Given the description of an element on the screen output the (x, y) to click on. 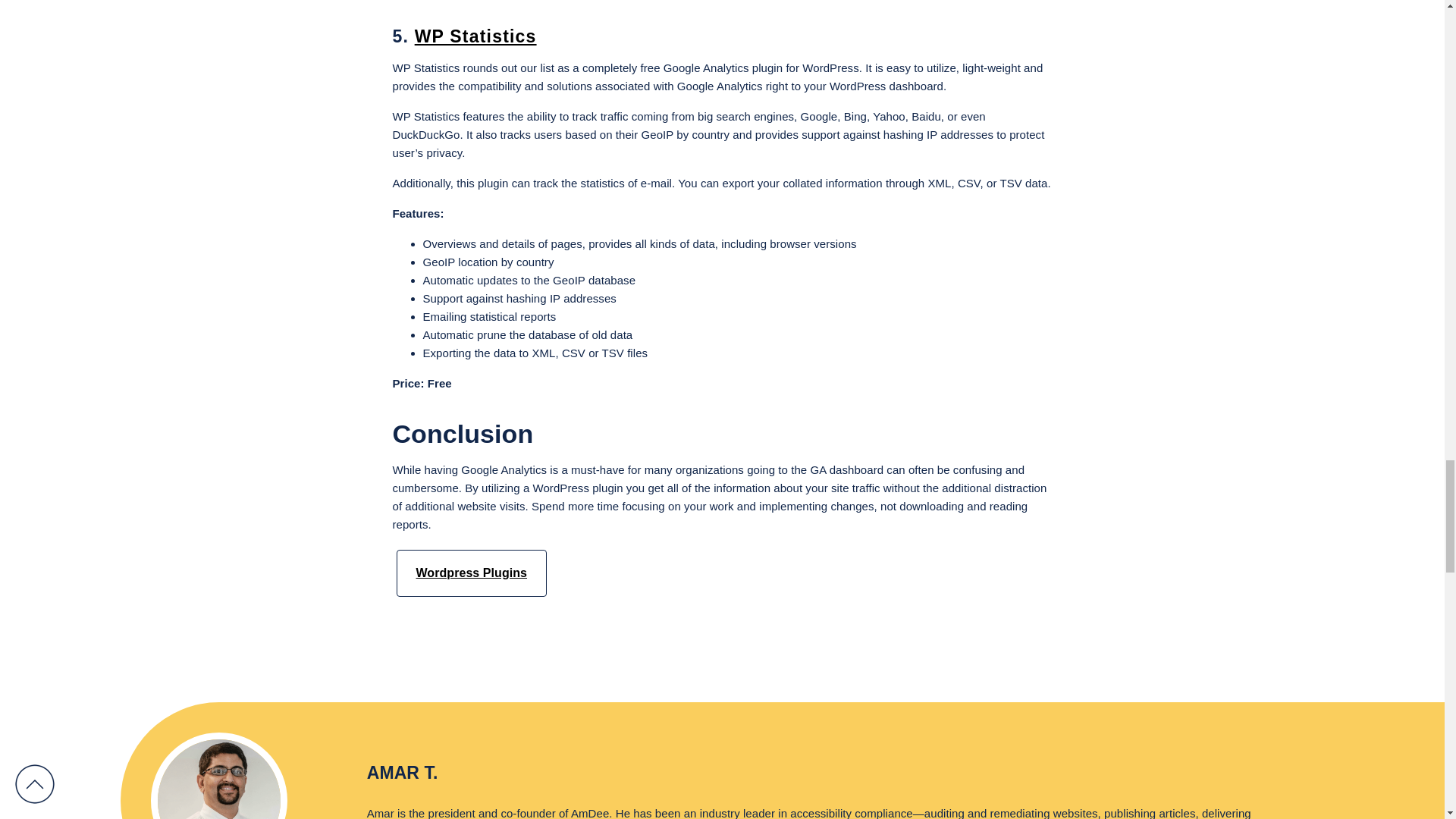
WP Statistics (475, 35)
Wordpress Plugins (471, 573)
